Given the description of an element on the screen output the (x, y) to click on. 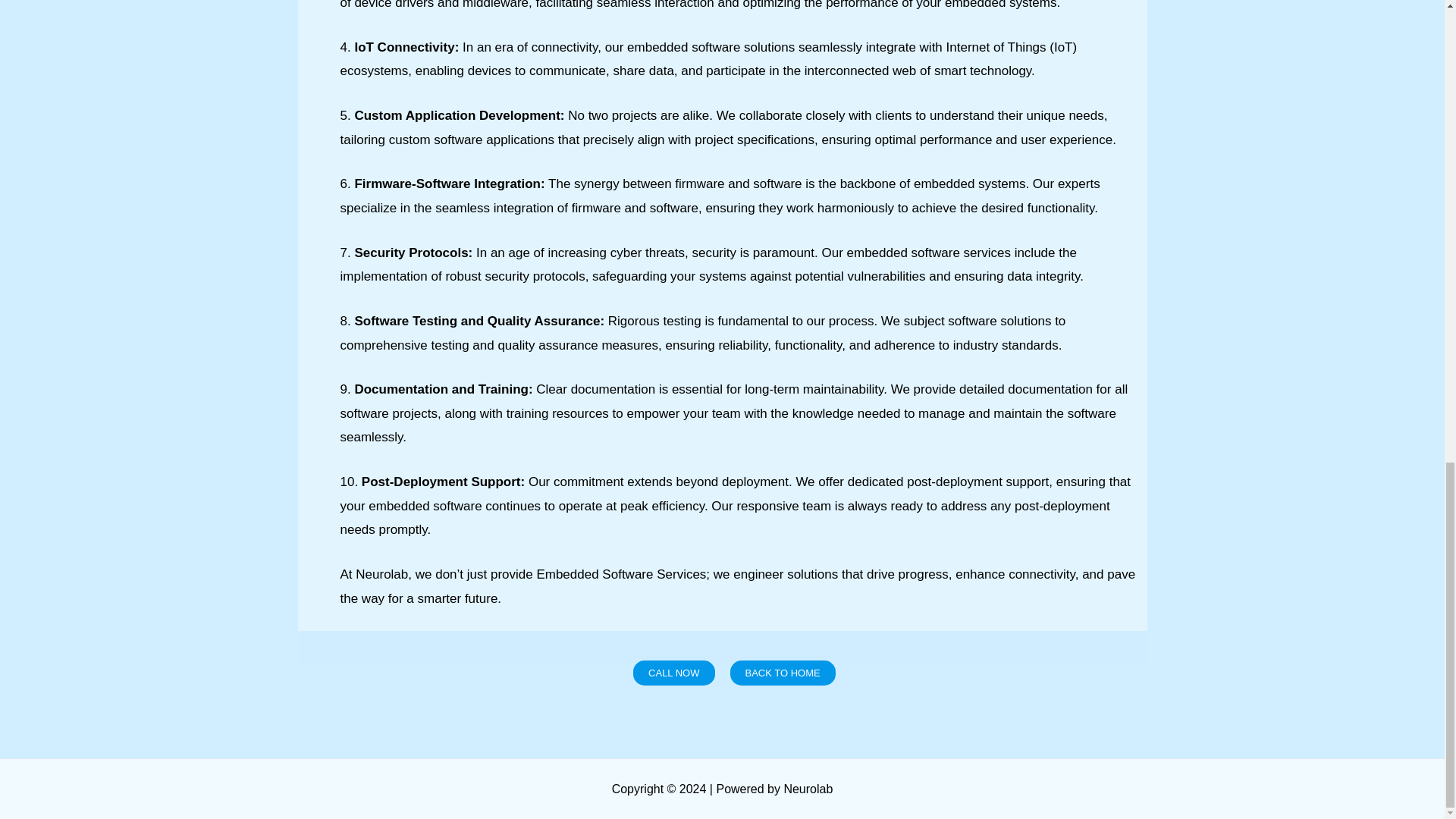
Neurolab (807, 788)
CALL NOW (673, 672)
BACK TO HOME (781, 672)
